Given the description of an element on the screen output the (x, y) to click on. 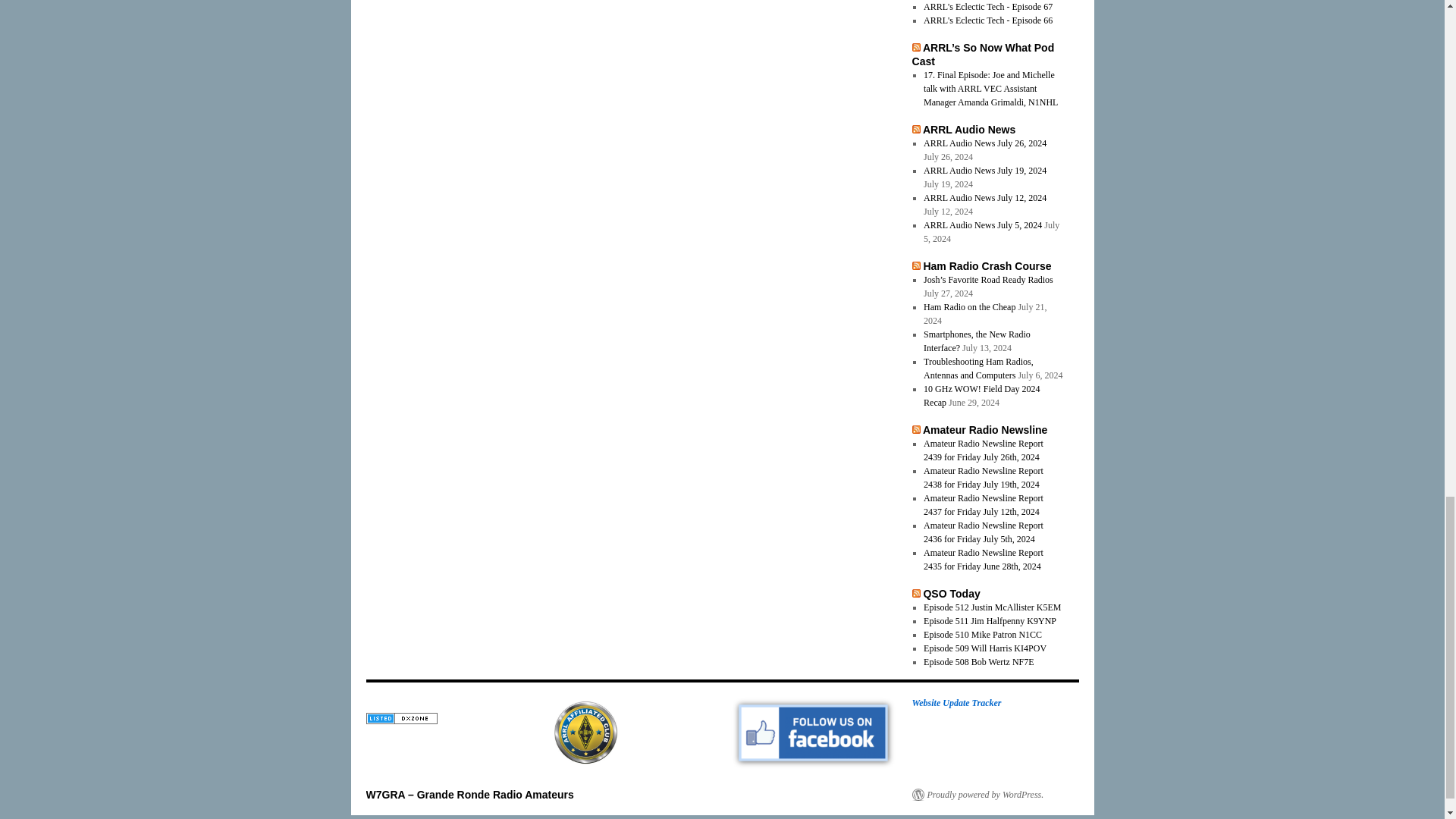
Semantic Personal Publishing Platform (977, 794)
